Given the description of an element on the screen output the (x, y) to click on. 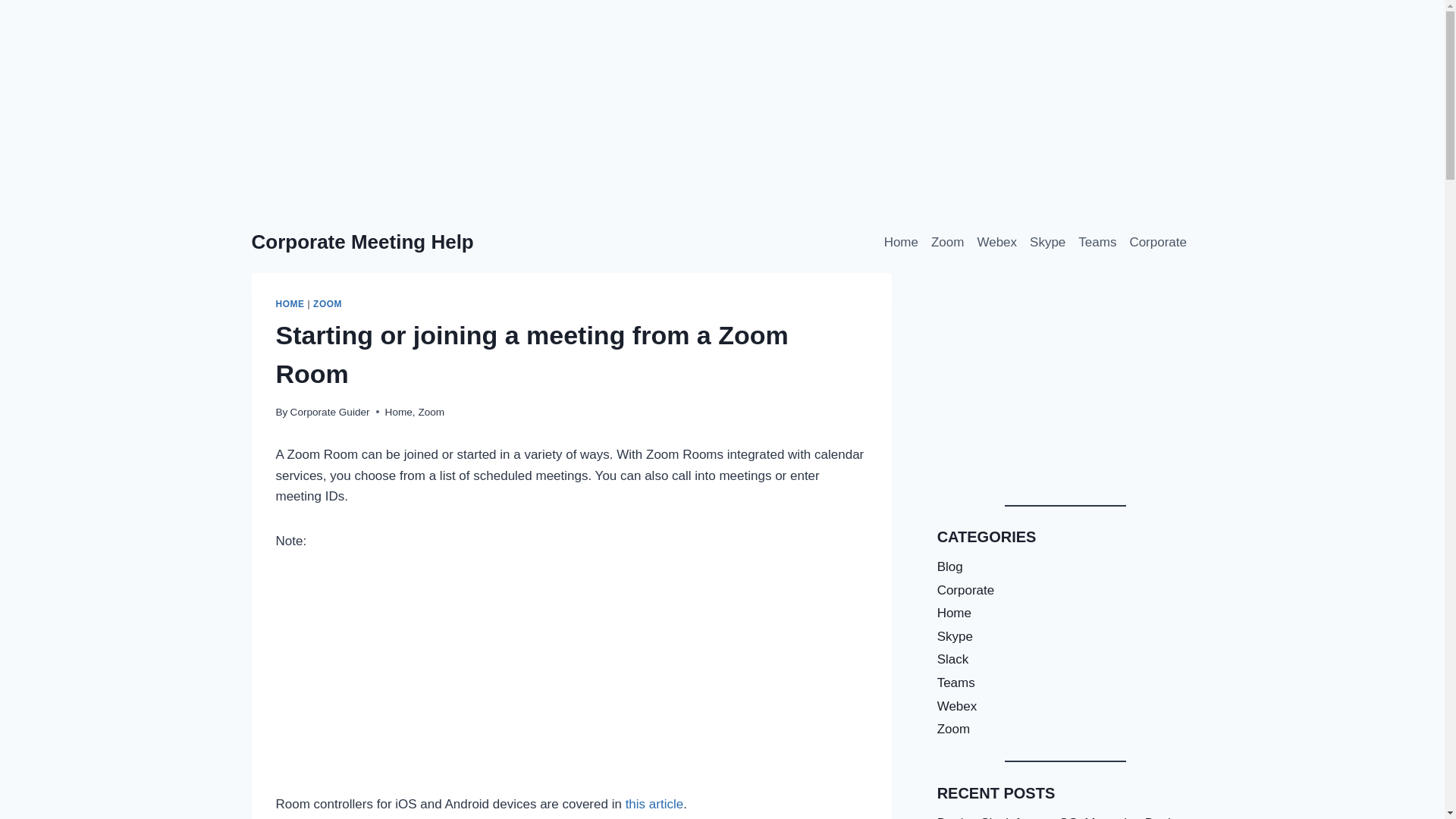
Zoom (430, 411)
Advertisement (571, 681)
this article (655, 803)
Corporate Meeting Help (362, 241)
Home (900, 242)
Webex (997, 242)
Corporate (1157, 242)
Teams (1096, 242)
Zoom (946, 242)
Home (398, 411)
HOME (290, 303)
Corporate Guider (329, 411)
Skype (1047, 242)
this article (655, 803)
